Given the description of an element on the screen output the (x, y) to click on. 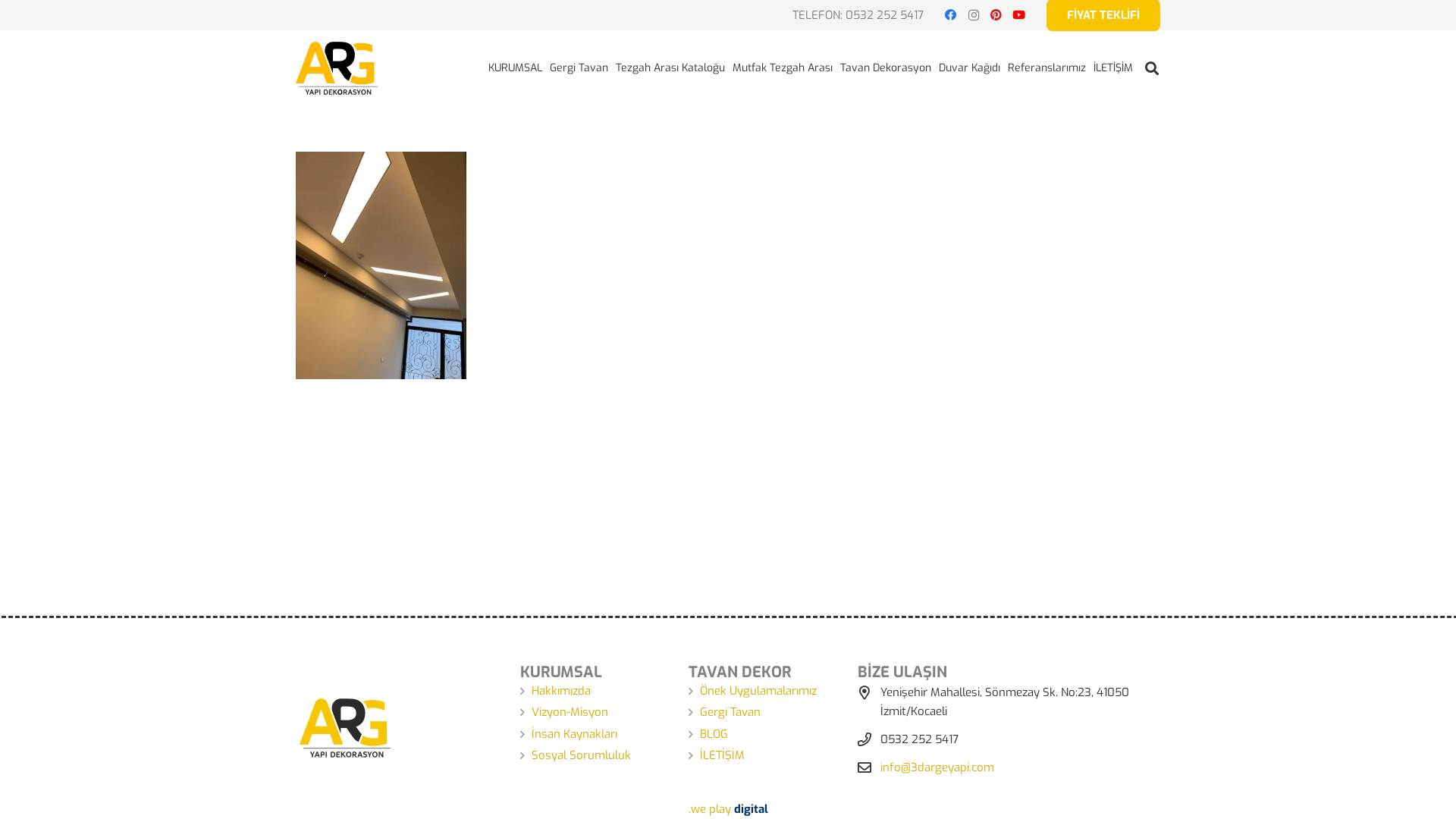
Pinterest Element type: hover (996, 14)
Tavan Dekorasyon Element type: text (885, 68)
Instagram Element type: hover (973, 14)
Vizyon-Misyon Element type: text (569, 711)
info@3dargeyapi.com Element type: text (937, 767)
Gergi Tavan Element type: text (729, 711)
Sosyal Sorumluluk Element type: text (580, 754)
Gergi Tavan Element type: text (578, 68)
Facebook Element type: hover (950, 14)
.we play digital Element type: text (728, 808)
YouTube Element type: hover (1018, 14)
KURUMSAL Element type: text (515, 68)
BLOG Element type: text (713, 733)
